Given the description of an element on the screen output the (x, y) to click on. 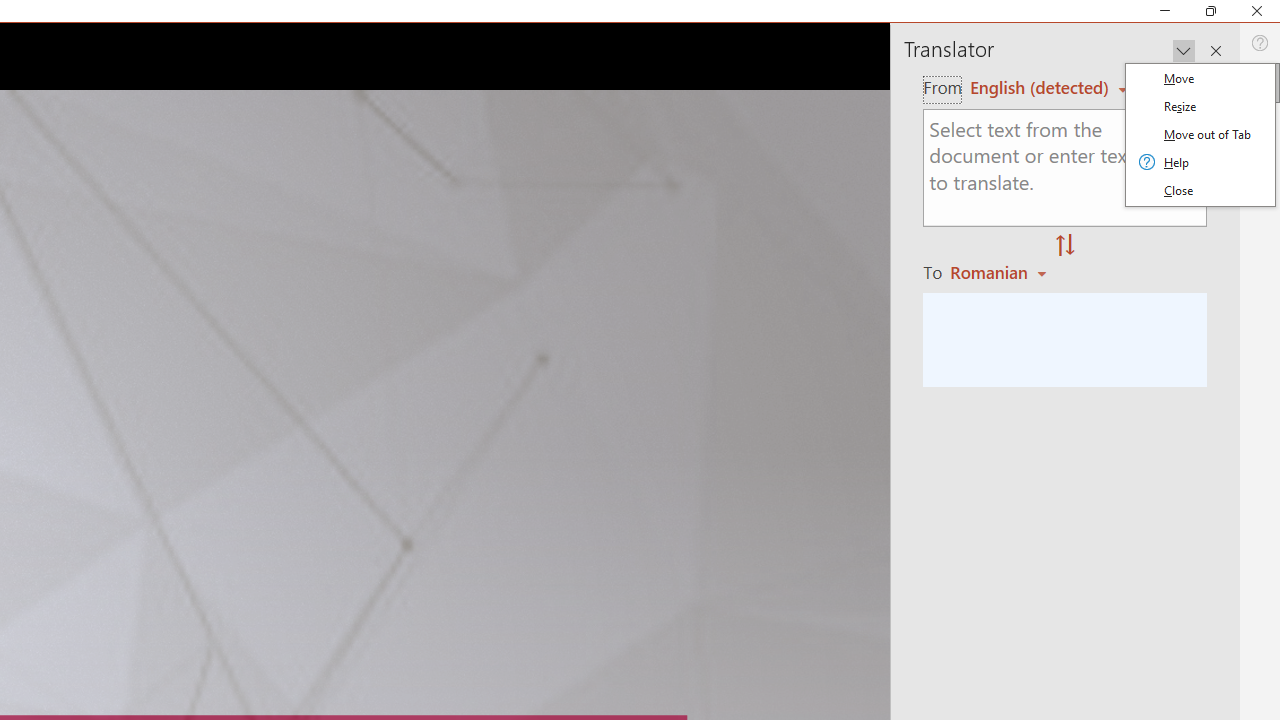
Czech (detected) (1039, 87)
Class: Net UI Tool Window (1200, 135)
Swap "from" and "to" languages. (1065, 245)
Romanian (1001, 272)
